Given the description of an element on the screen output the (x, y) to click on. 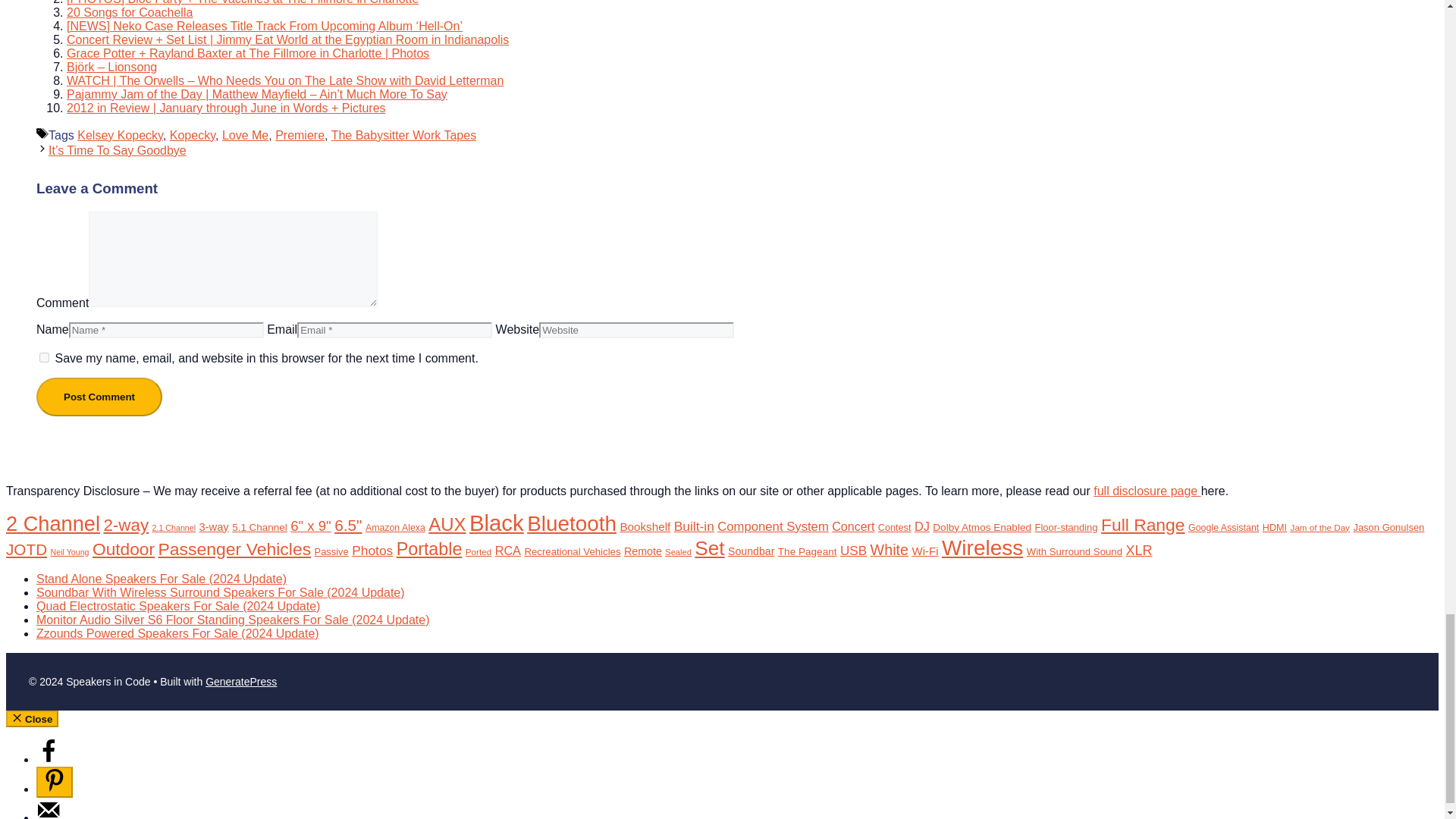
20 Songs for Coachella (129, 11)
Love Me (244, 134)
yes (44, 357)
Kelsey Kopecky (120, 134)
Kopecky (192, 134)
Post Comment (98, 396)
20 Songs for Coachella (129, 11)
